Given the description of an element on the screen output the (x, y) to click on. 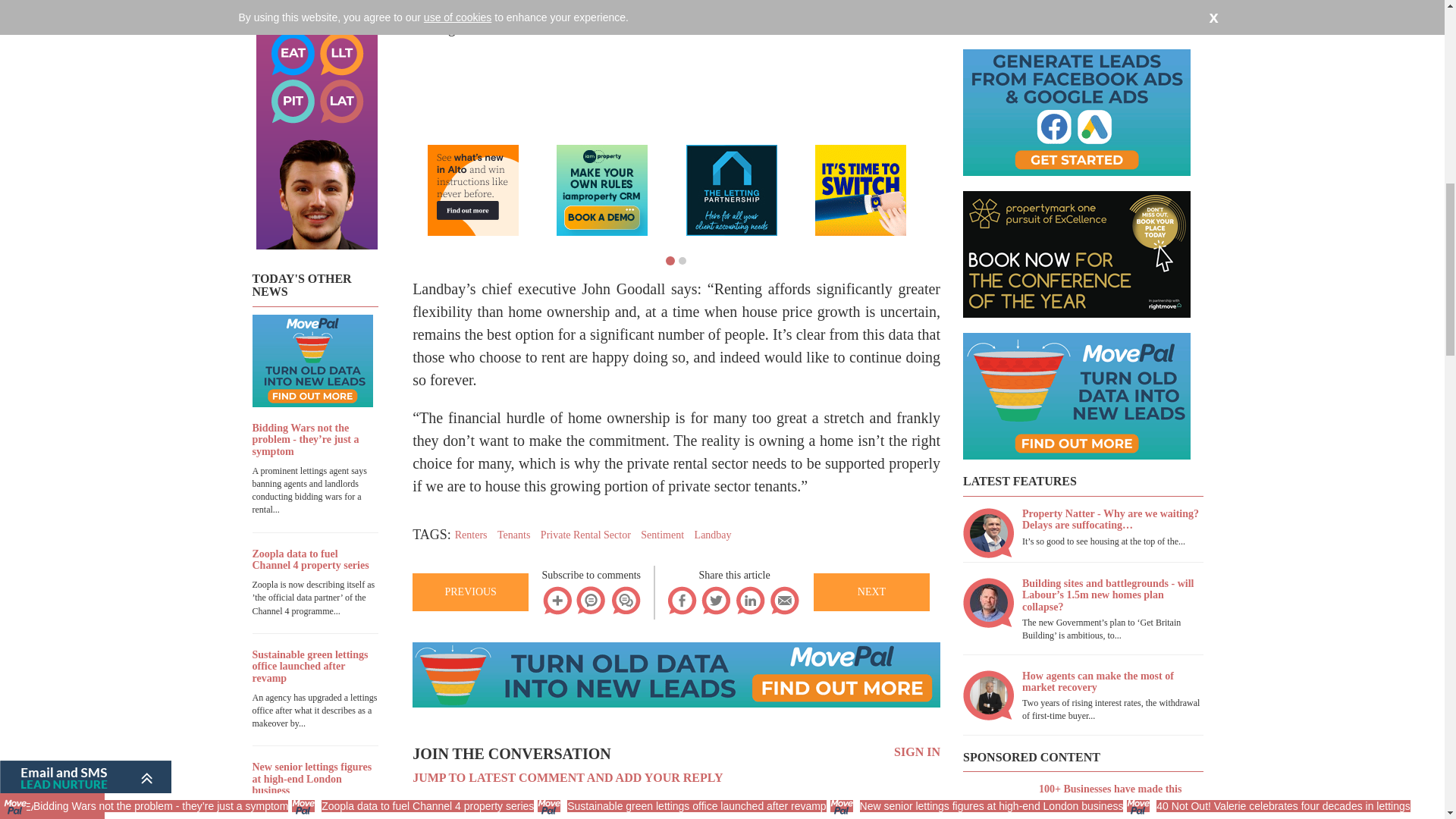
Save for later (556, 600)
iamproperty (601, 189)
Alto - Zoopla (473, 189)
The Letting Partnership (731, 189)
Tenancy Deposit Scheme (860, 189)
